Given the description of an element on the screen output the (x, y) to click on. 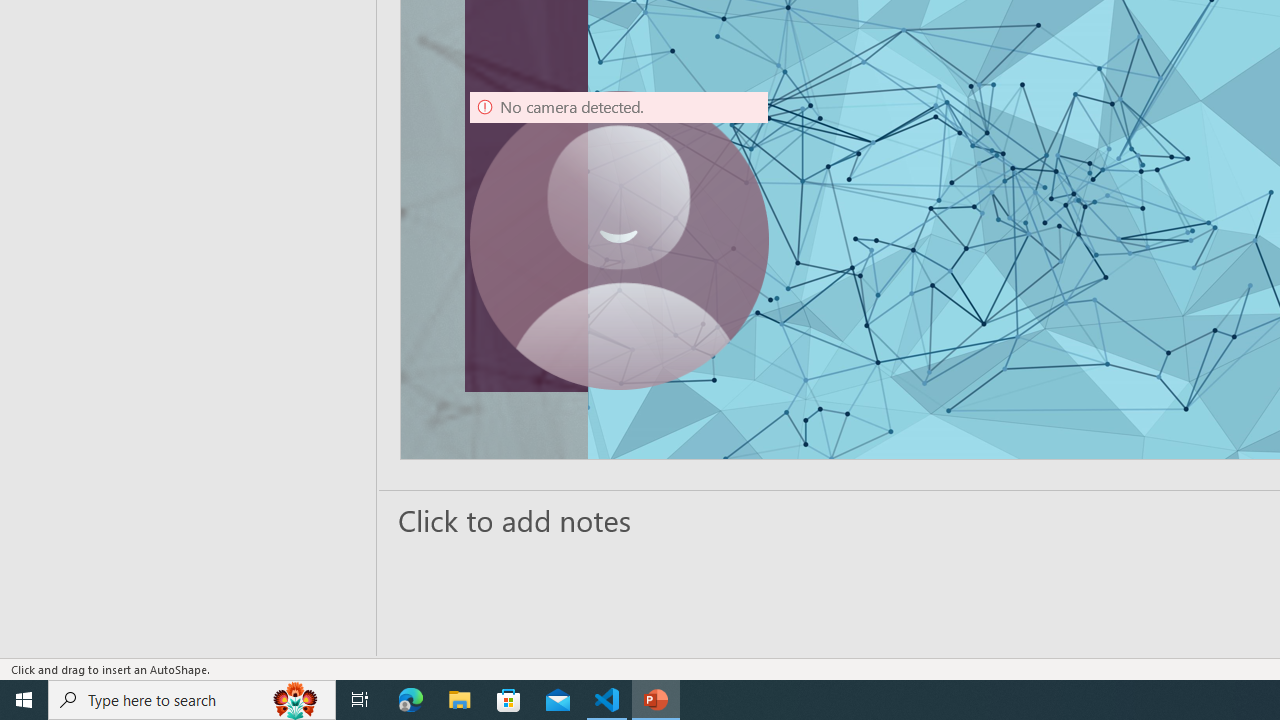
Camera 9, No camera detected. (619, 240)
